Given the description of an element on the screen output the (x, y) to click on. 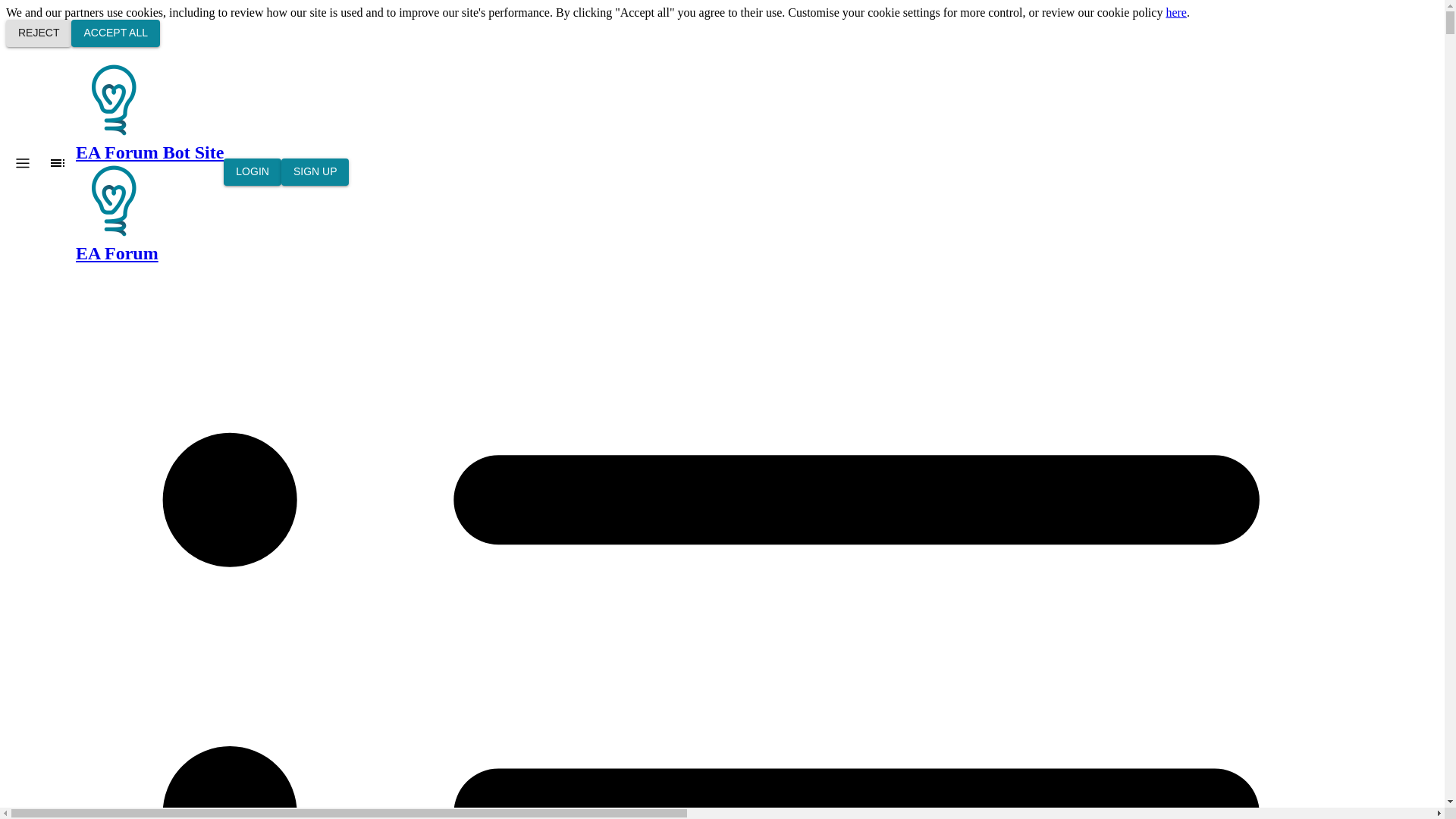
cookie settings (903, 11)
here (1176, 11)
SIGN UP (315, 171)
EA Forum Bot Site (113, 200)
EA Forum (149, 212)
EA Forum Bot Site (149, 112)
EA Forum Bot Site (113, 100)
REJECT (38, 32)
LOGIN (252, 171)
ACCEPT ALL (115, 32)
